Given the description of an element on the screen output the (x, y) to click on. 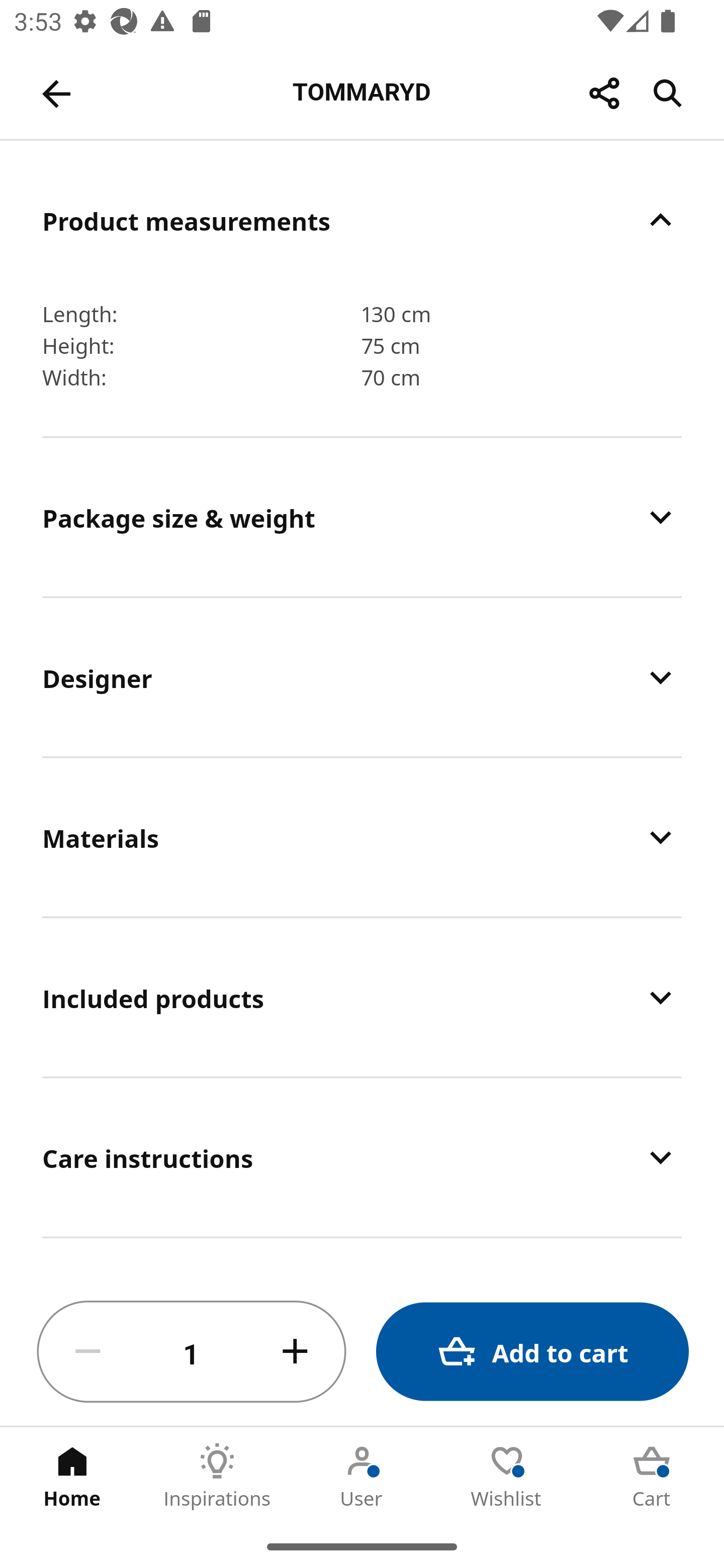
Product measurements (361, 219)
Package size & weight (361, 516)
Designer (361, 677)
Materials (361, 837)
Included products (361, 997)
Care instructions (361, 1157)
Add to cart (531, 1352)
1 (191, 1352)
Home
Tab 1 of 5 (72, 1476)
Inspirations
Tab 2 of 5 (216, 1476)
User
Tab 3 of 5 (361, 1476)
Wishlist
Tab 4 of 5 (506, 1476)
Cart
Tab 5 of 5 (651, 1476)
